Given the description of an element on the screen output the (x, y) to click on. 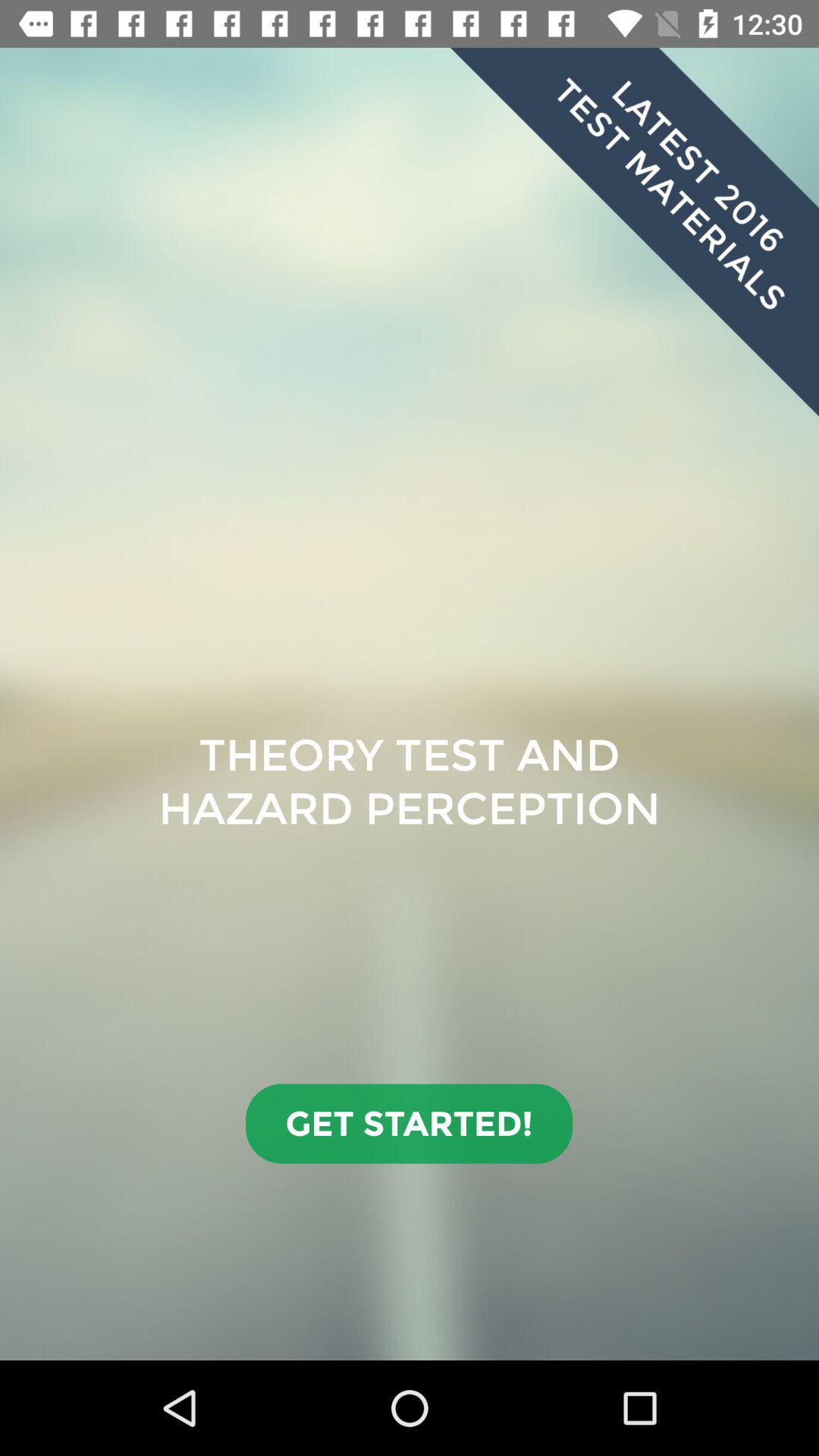
turn off the get started! icon (408, 1123)
